Given the description of an element on the screen output the (x, y) to click on. 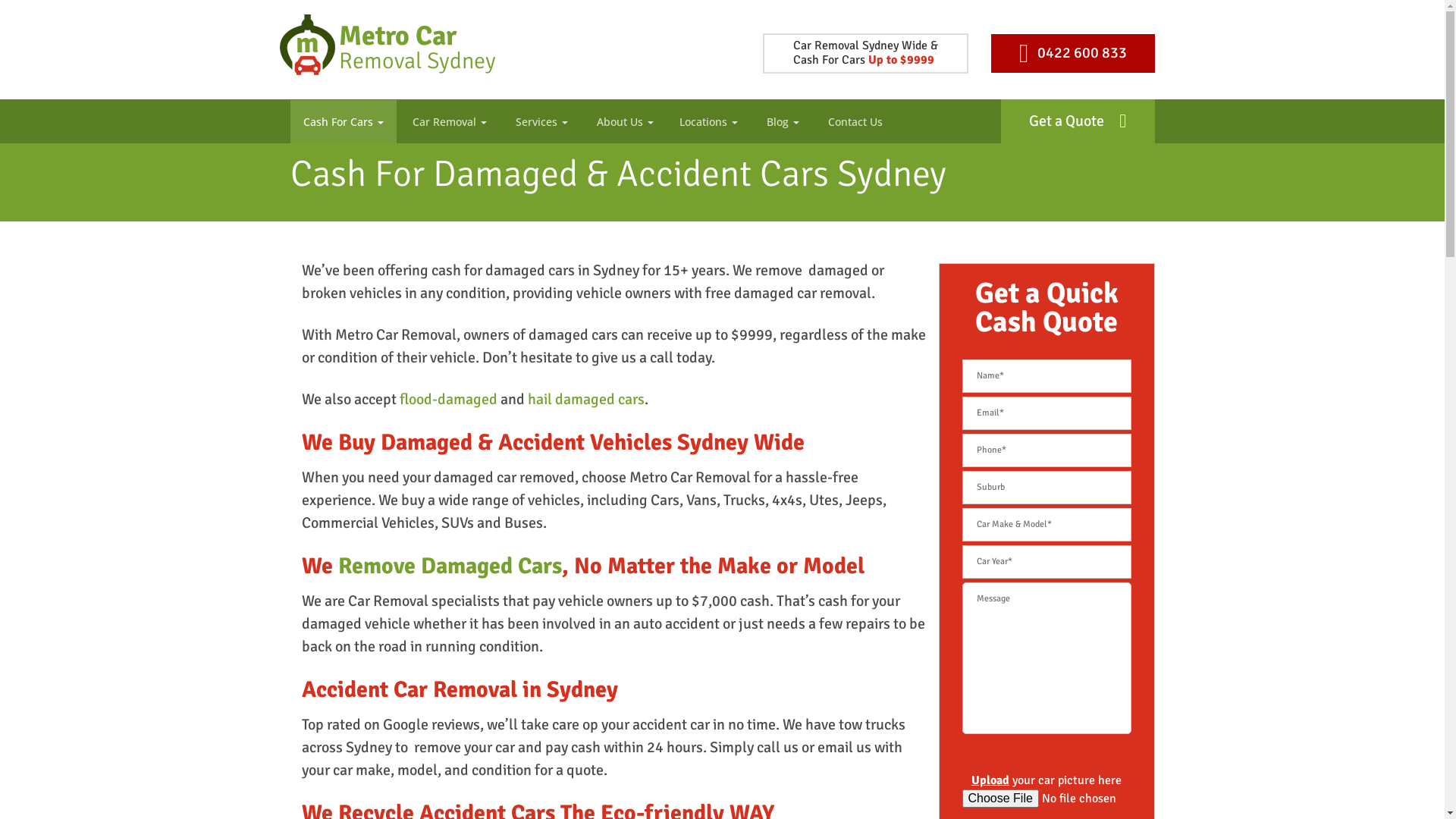
Cash For Cars Element type: text (343, 121)
 About Us Element type: text (622, 121)
0422 600 833 Element type: text (1072, 53)
hail damaged cars Element type: text (585, 398)
Metro Car
Removal Sydney Element type: text (387, 60)
Get a Quote Element type: text (1077, 121)
Remove Damaged Cars Element type: text (449, 566)
 Blog Element type: text (780, 121)
Metro Car Removal Element type: hover (308, 62)
Locations Element type: text (708, 121)
 Services Element type: text (539, 121)
 Contact Us Element type: text (853, 121)
 Car Removal Element type: text (447, 121)
flood-damaged Element type: text (447, 398)
